Given the description of an element on the screen output the (x, y) to click on. 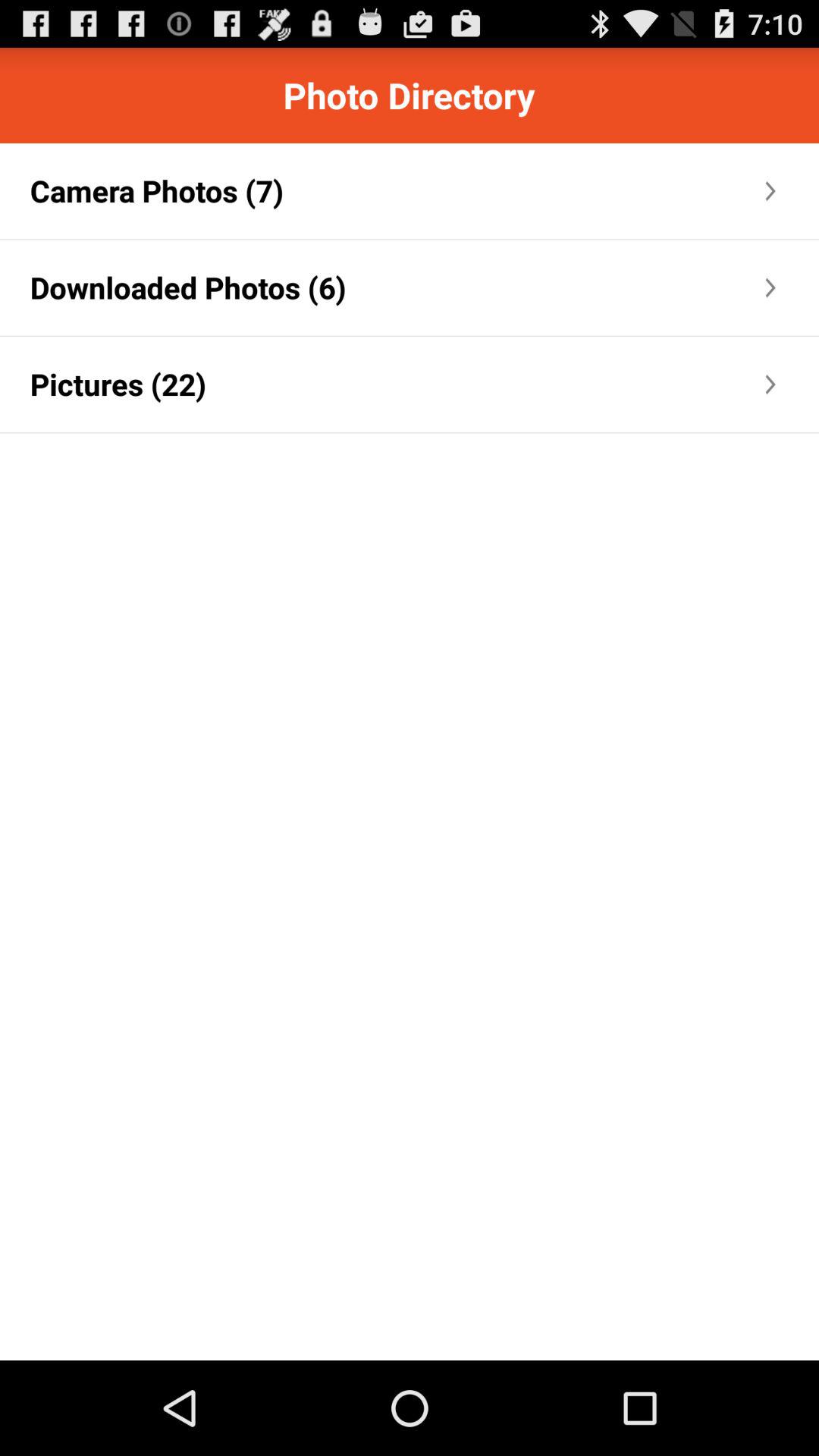
tap downloaded photos (6) item (188, 287)
